Given the description of an element on the screen output the (x, y) to click on. 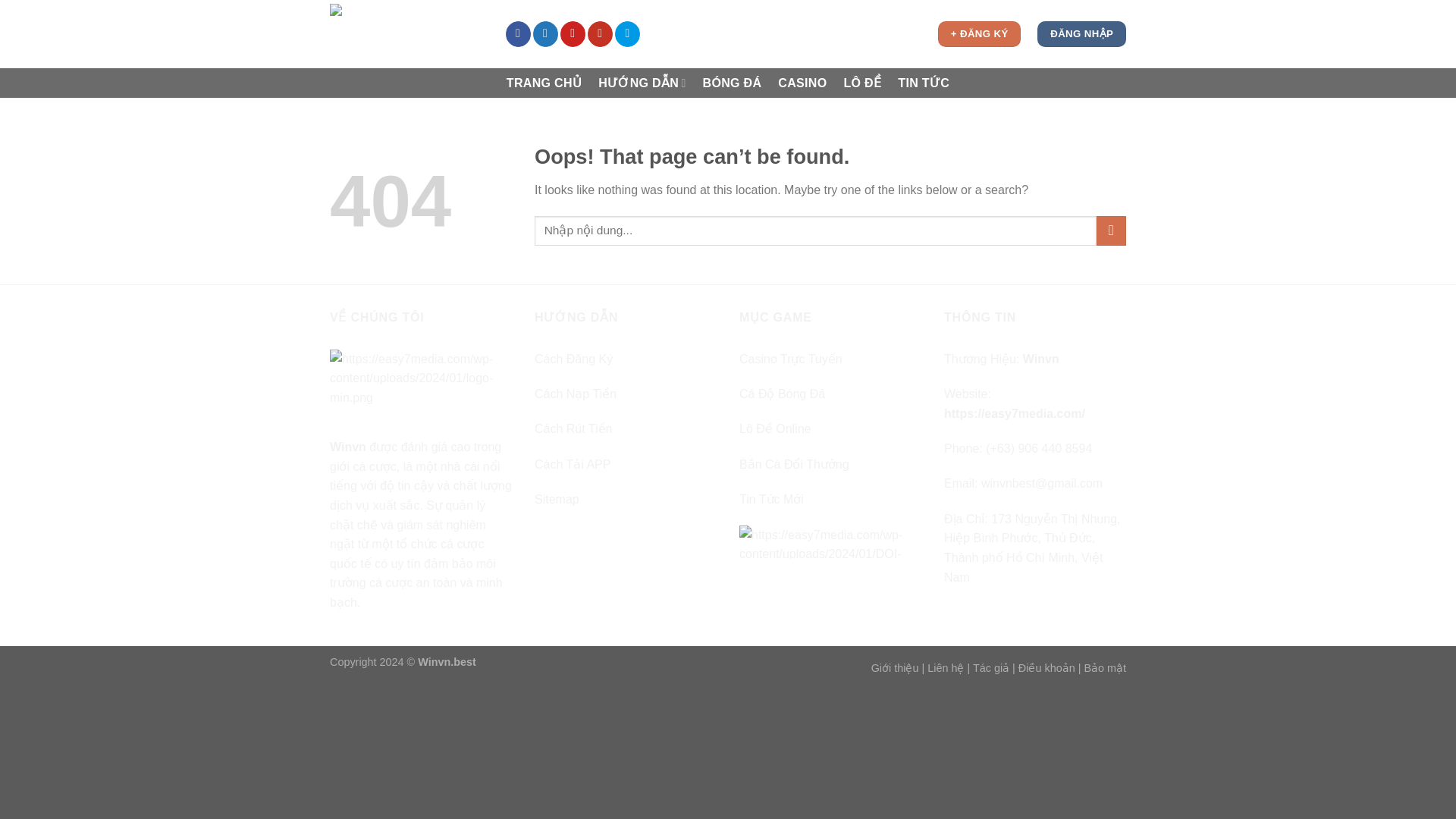
CASINO (802, 83)
Follow on Twitter (544, 33)
Follow on Facebook (518, 33)
Follow on 500px (627, 33)
Follow on YouTube (600, 33)
Sitemap (556, 499)
Winvn.best (446, 662)
Follow on Pinterest (572, 33)
Winvn.best - Winvn.best (405, 34)
Winvn (348, 446)
